Given the description of an element on the screen output the (x, y) to click on. 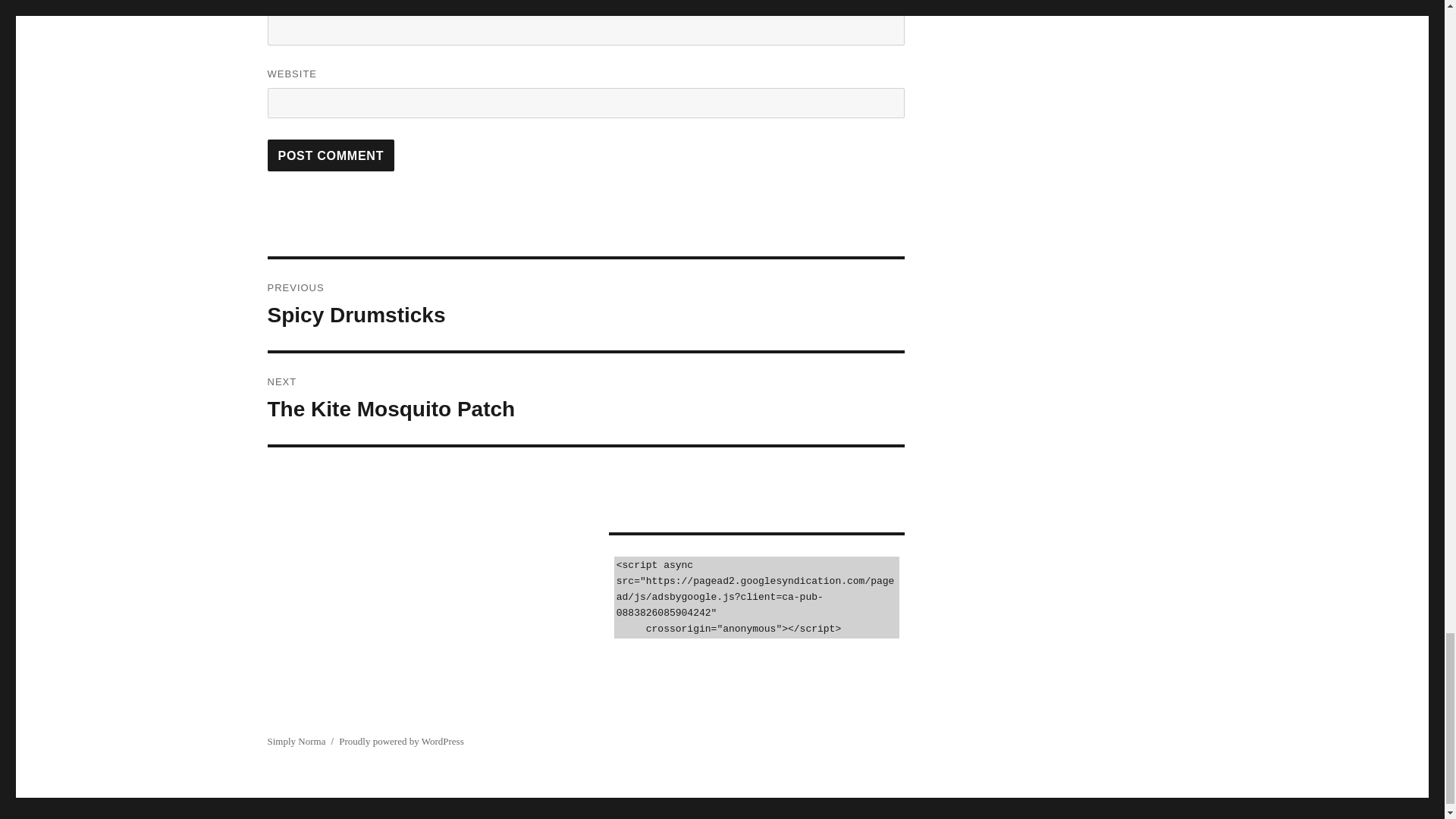
Post Comment (585, 398)
Post Comment (330, 155)
